Given the description of an element on the screen output the (x, y) to click on. 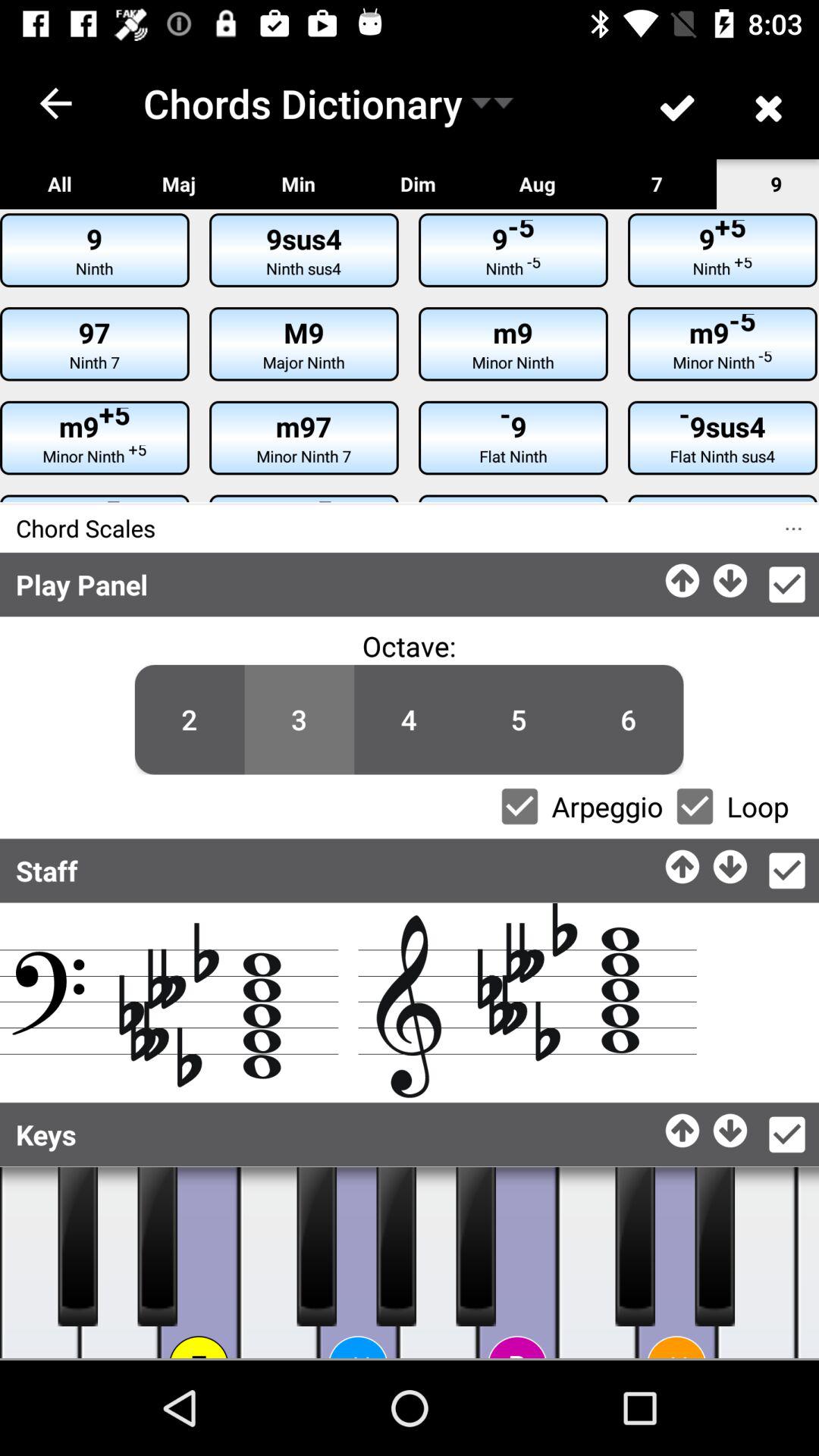
ok (787, 870)
